Given the description of an element on the screen output the (x, y) to click on. 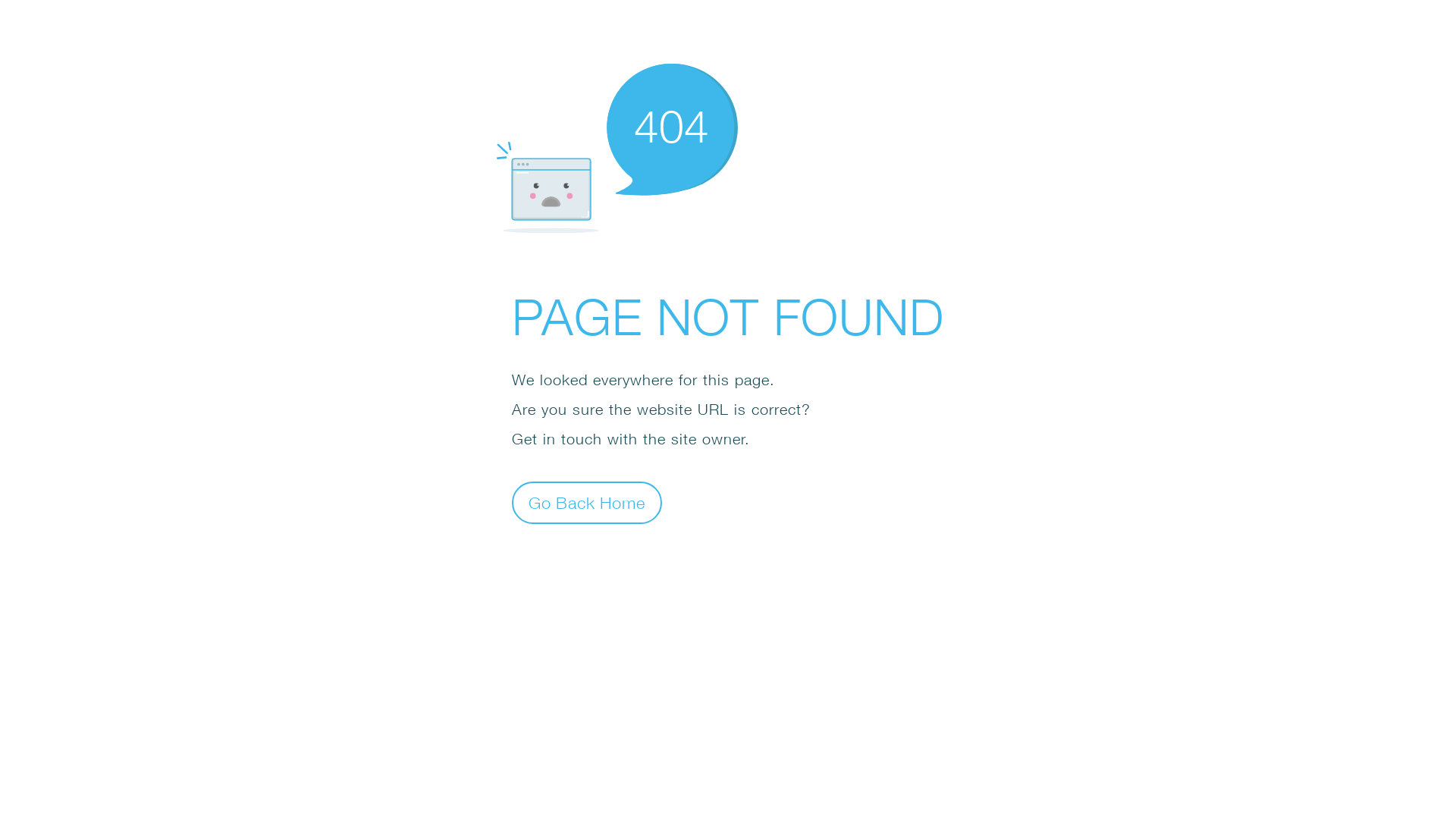
Go Back Home Element type: text (586, 502)
